Given the description of an element on the screen output the (x, y) to click on. 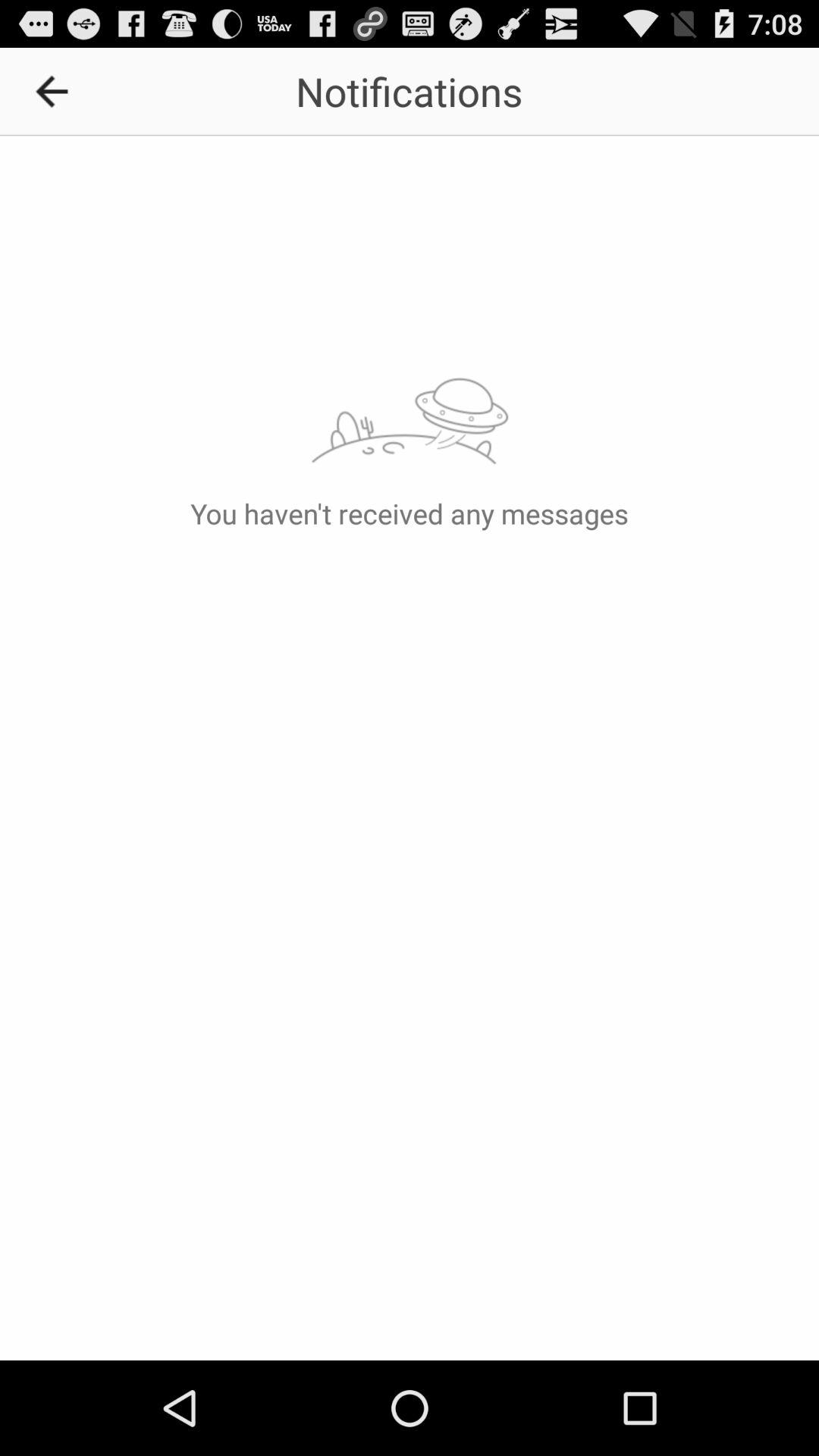
launch the   at the top left corner (57, 91)
